Given the description of an element on the screen output the (x, y) to click on. 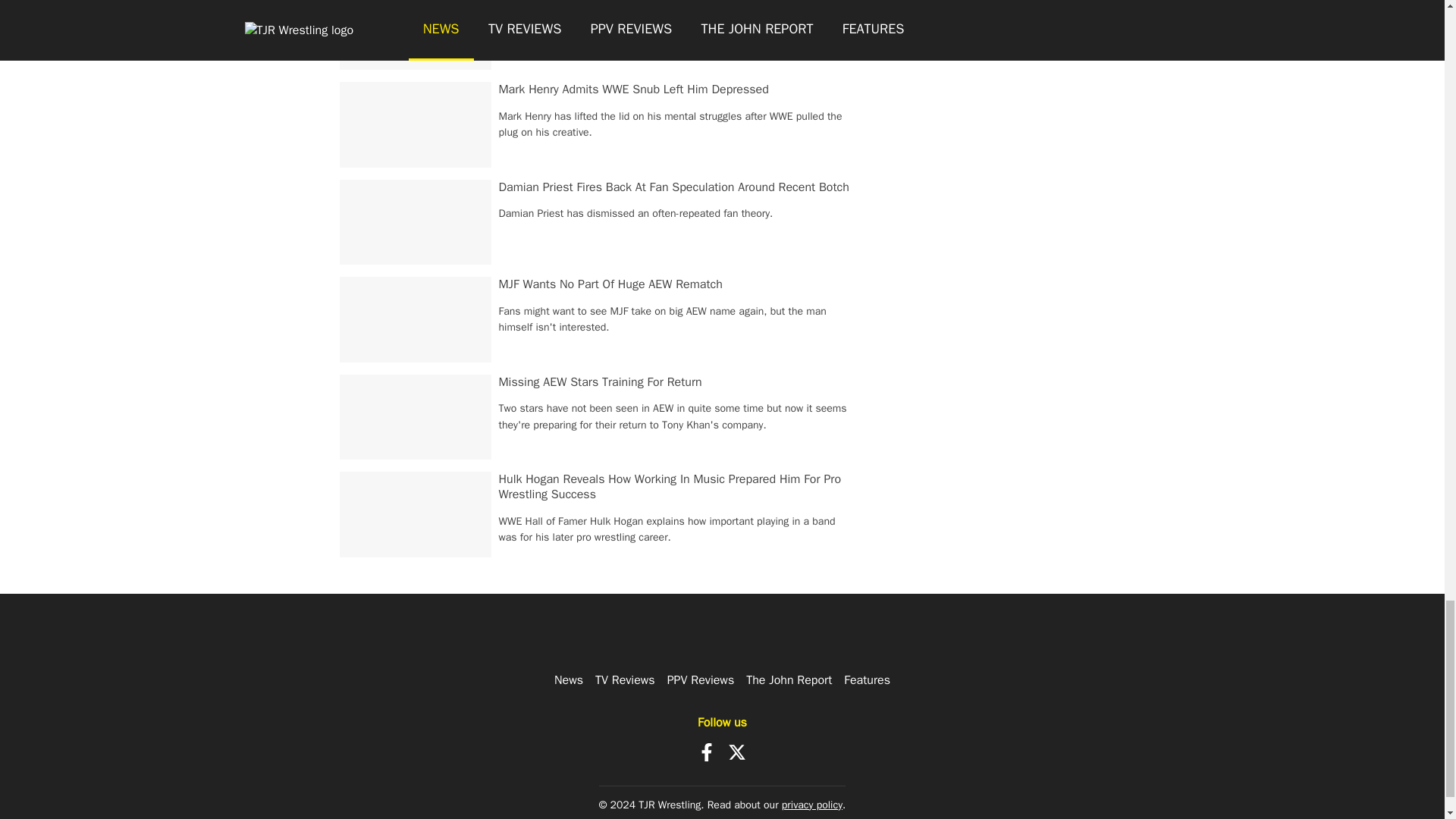
Mark Henry Admits WWE Snub Left Him Depressed (633, 89)
X (736, 751)
Missing AEW Stars Training For Return (600, 381)
MJF Wants No Part Of Huge AEW Rematch (610, 283)
Facebook (706, 751)
